Given the description of an element on the screen output the (x, y) to click on. 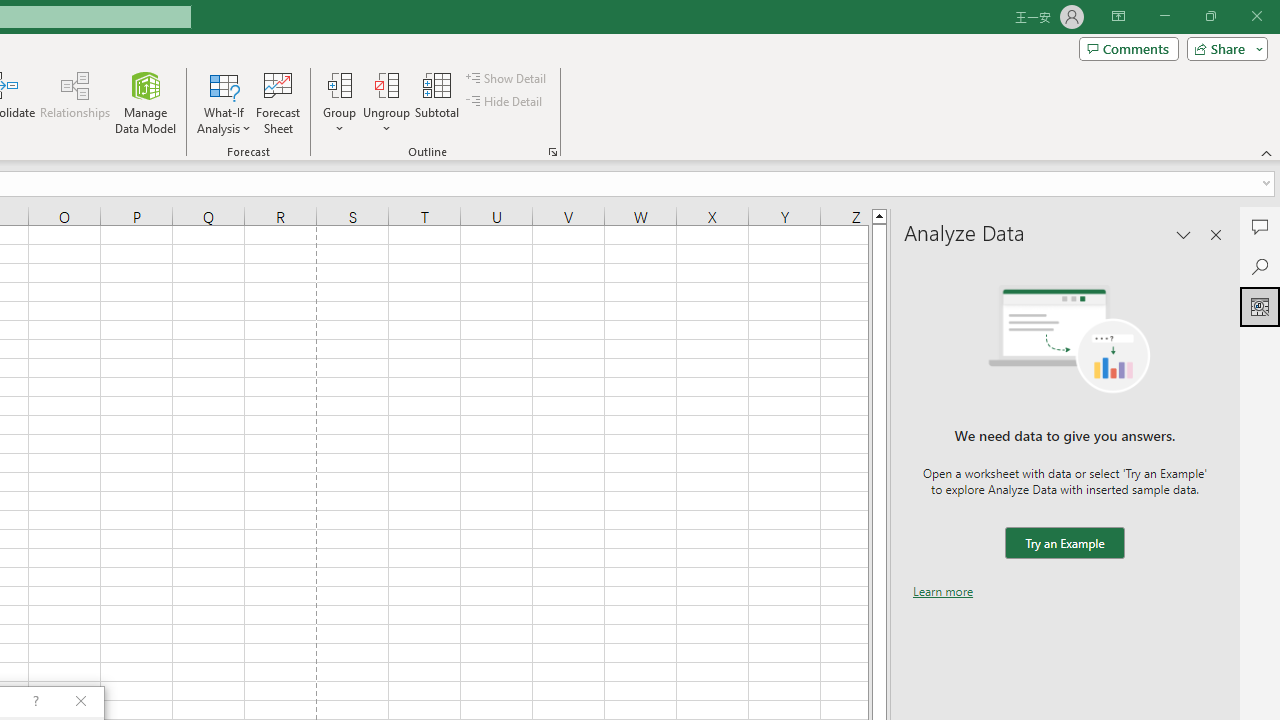
Relationships (75, 102)
What-If Analysis (223, 102)
Learn more (943, 591)
Group and Outline Settings (552, 151)
Analyze Data (1260, 306)
